Given the description of an element on the screen output the (x, y) to click on. 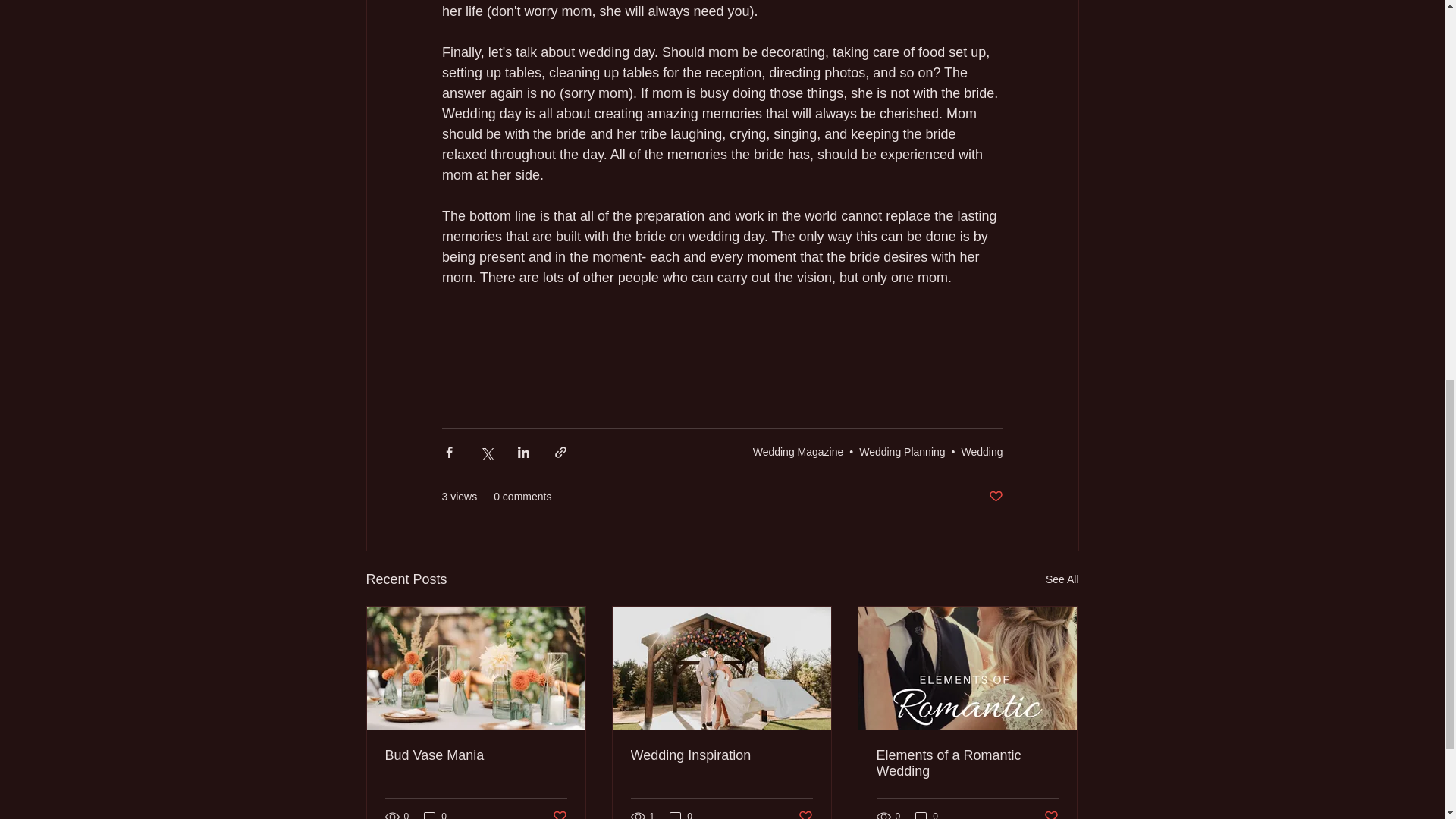
Post not marked as liked (804, 813)
Elements of a Romantic Wedding (967, 763)
Wedding Planning (901, 451)
0 (926, 814)
Wedding (981, 451)
Bud Vase Mania (476, 755)
Wedding Magazine (798, 451)
Post not marked as liked (1050, 813)
Post not marked as liked (558, 813)
See All (1061, 579)
Wedding Inspiration (721, 755)
0 (681, 814)
Post not marked as liked (995, 496)
0 (435, 814)
